Given the description of an element on the screen output the (x, y) to click on. 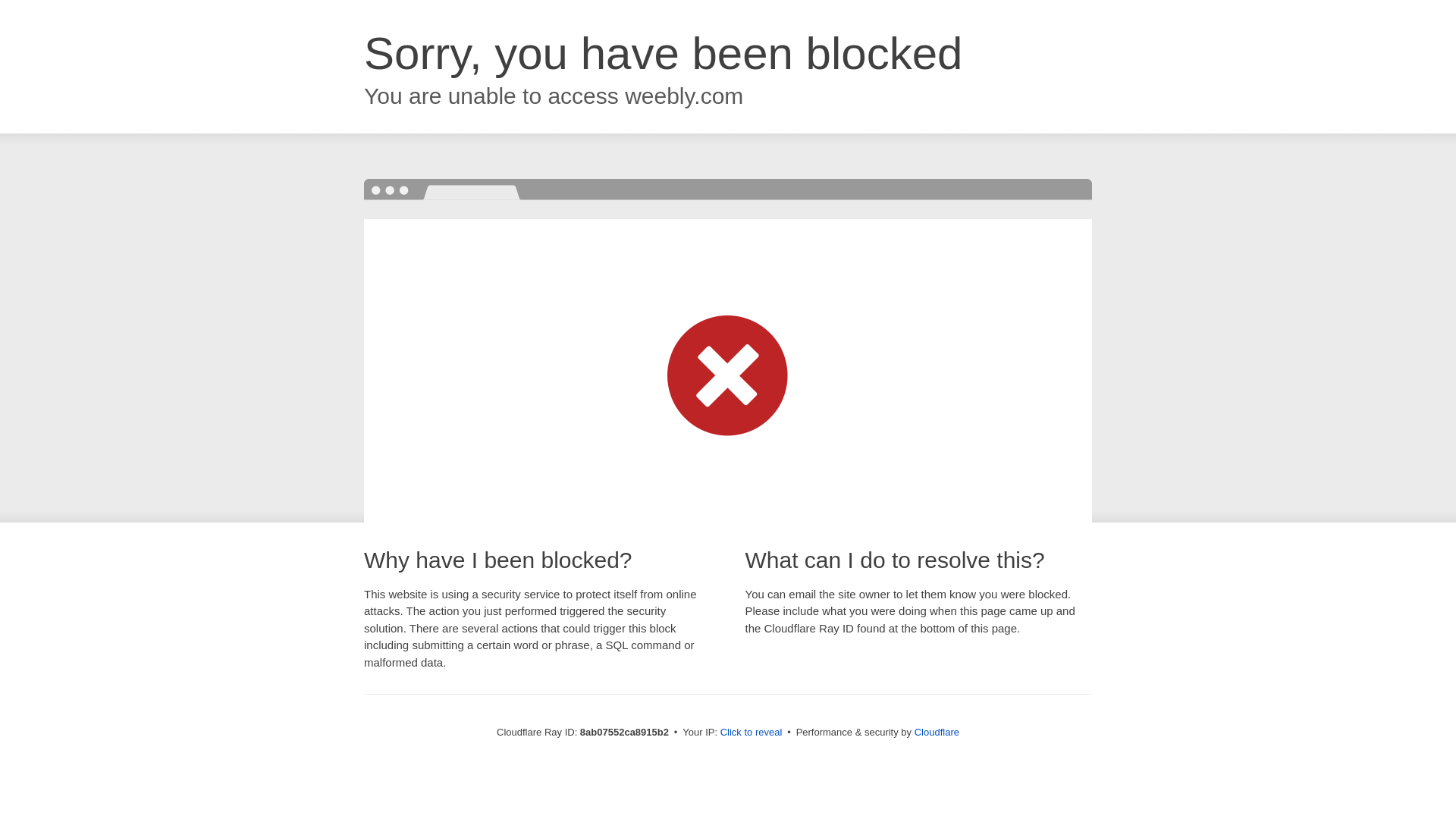
Click to reveal (751, 732)
Cloudflare (936, 731)
